Given the description of an element on the screen output the (x, y) to click on. 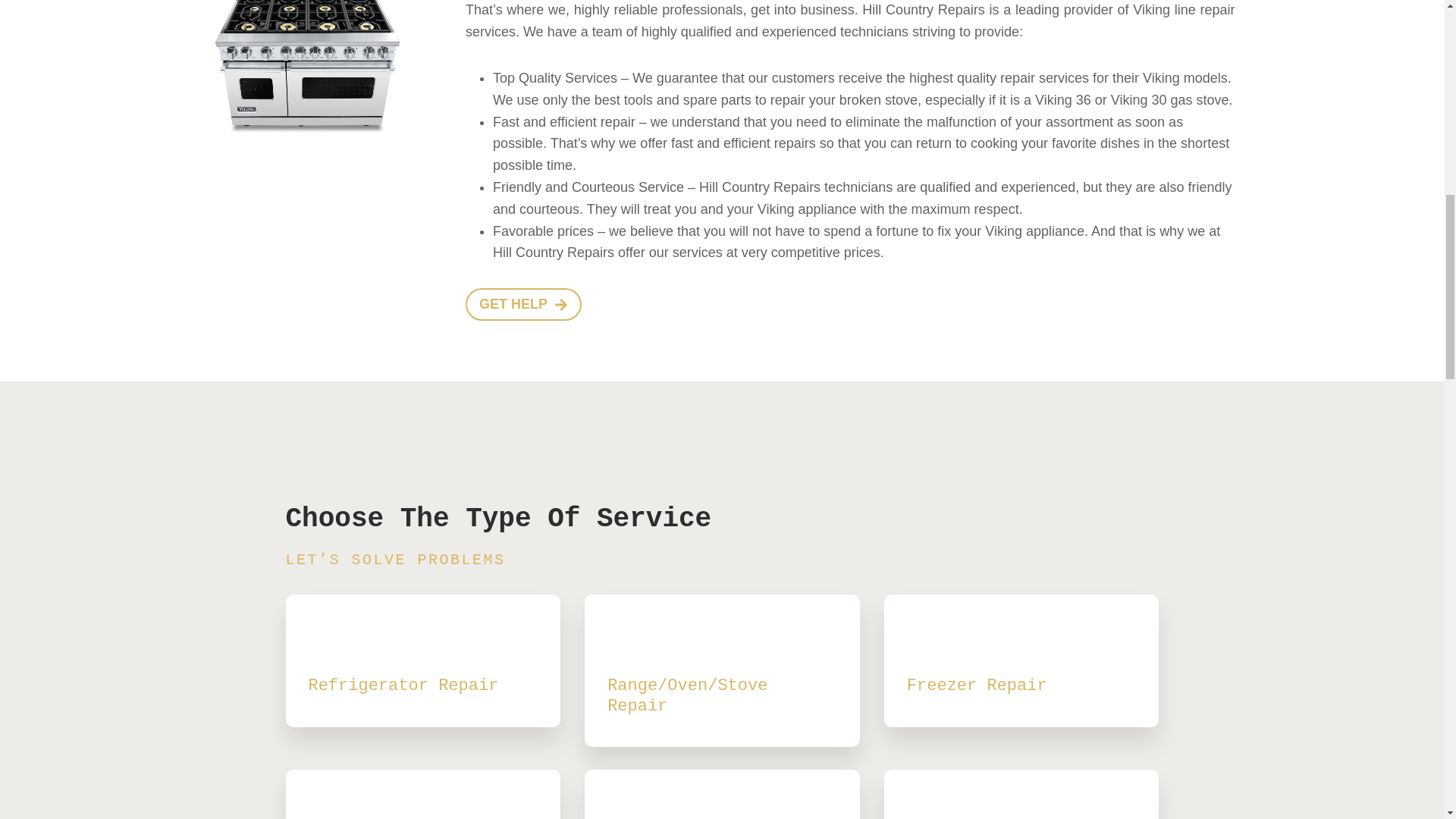
GET HELP (522, 304)
